Given the description of an element on the screen output the (x, y) to click on. 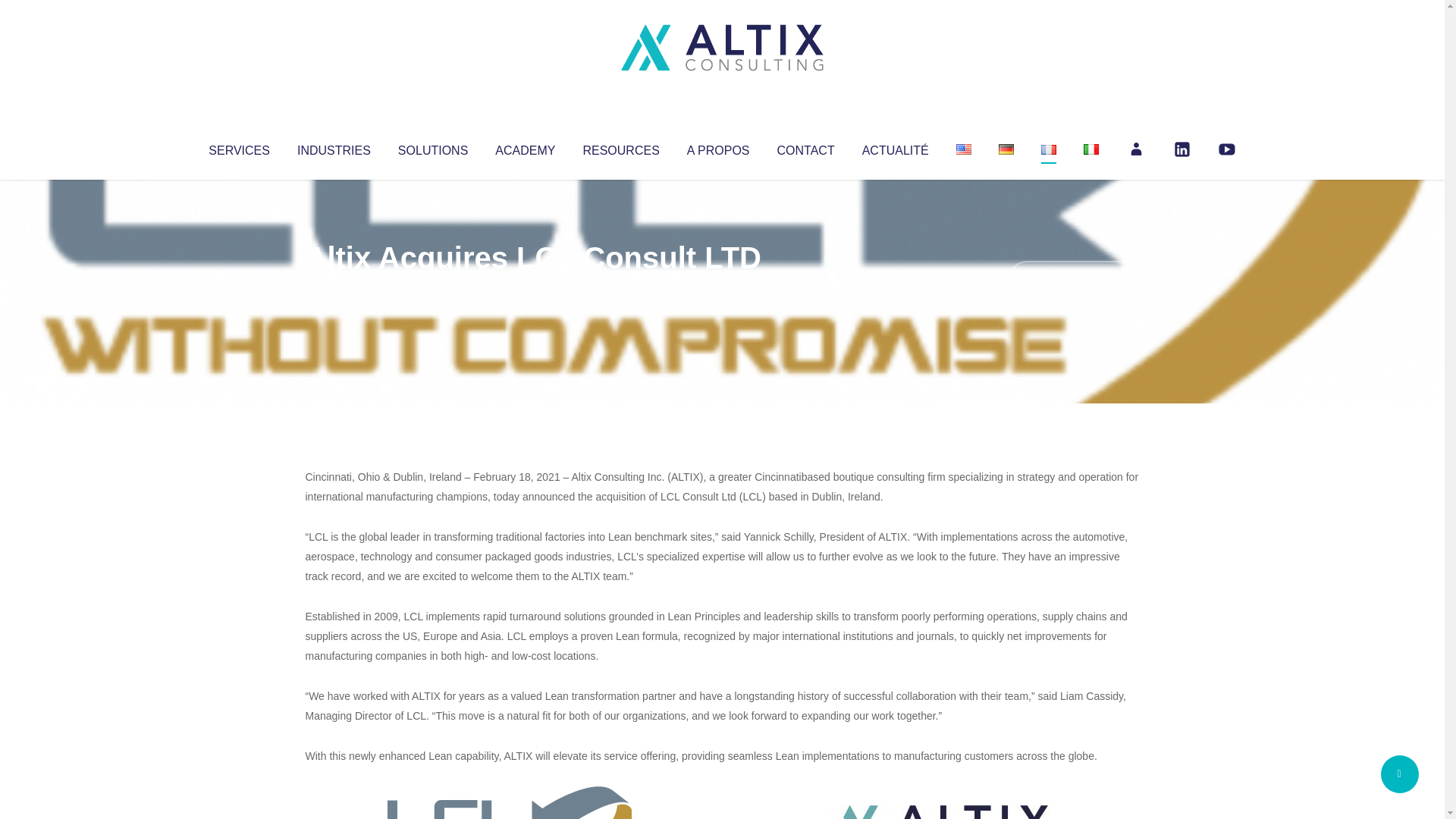
No Comments (1073, 278)
ACADEMY (524, 146)
A PROPOS (718, 146)
Altix (333, 287)
Articles par Altix (333, 287)
RESOURCES (620, 146)
INDUSTRIES (334, 146)
SERVICES (238, 146)
SOLUTIONS (432, 146)
Uncategorized (530, 287)
